Given the description of an element on the screen output the (x, y) to click on. 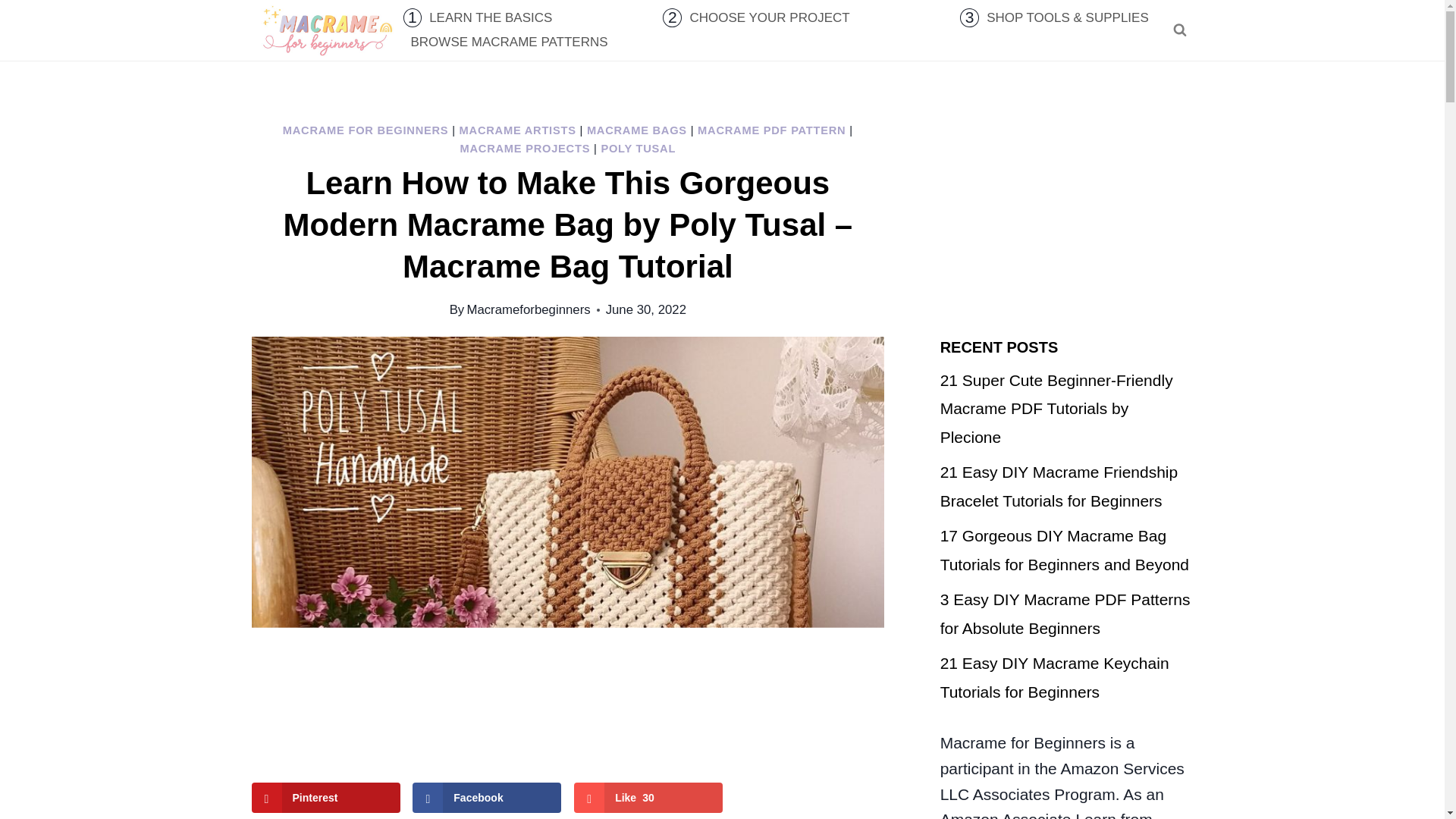
MACRAME PROJECTS (524, 148)
LEARN THE BASICS (492, 17)
Facebook (486, 797)
MACRAME PDF PATTERN (771, 130)
MACRAME BAGS (636, 130)
Macrameforbeginners (527, 309)
Like 30 (647, 797)
Pinterest (325, 797)
BROWSE MACRAME PATTERNS (509, 42)
CHOOSE YOUR PROJECT (770, 17)
POLY TUSAL (637, 148)
MACRAME ARTISTS (518, 130)
MACRAME FOR BEGINNERS (365, 130)
